Given the description of an element on the screen output the (x, y) to click on. 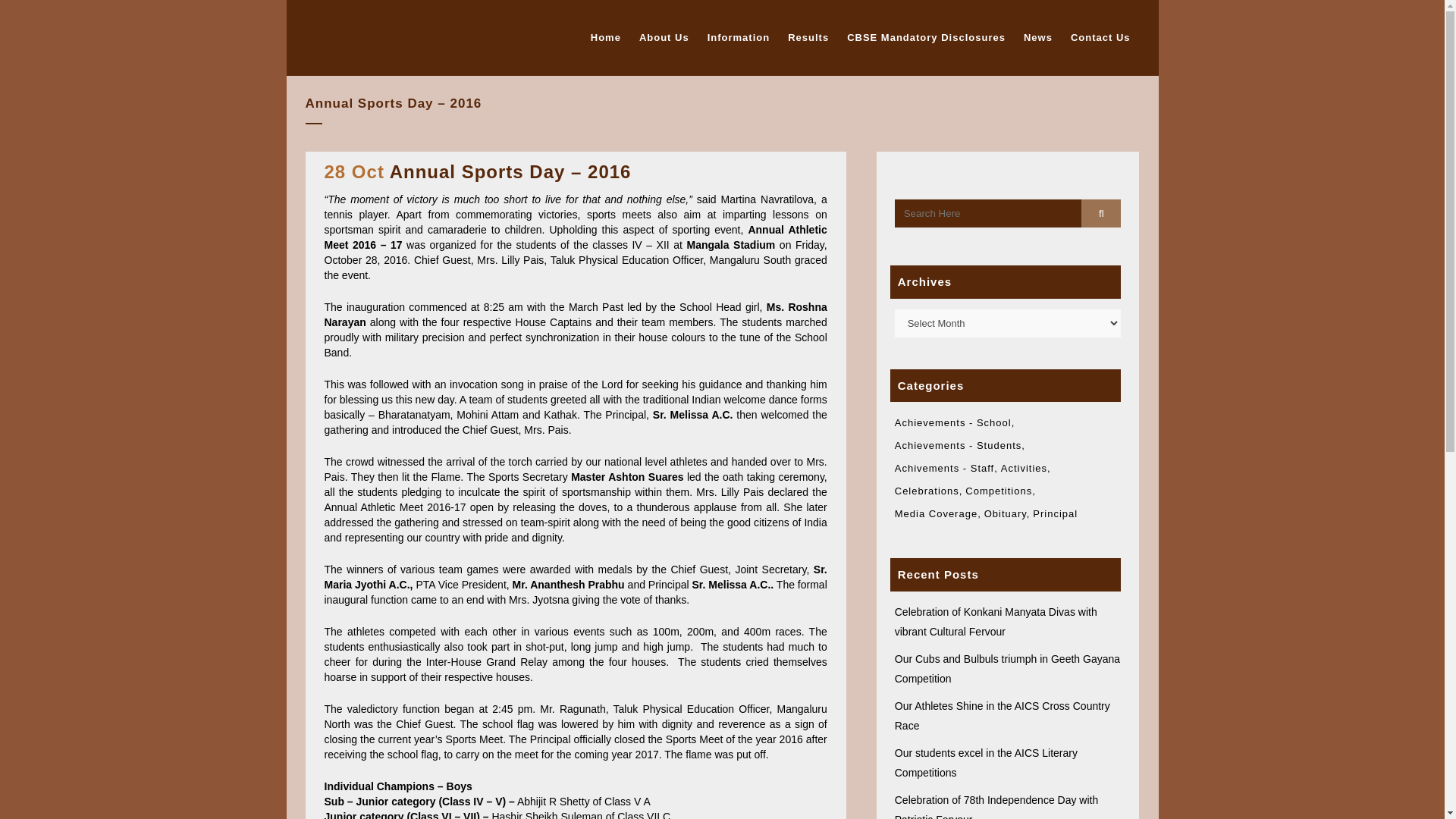
About Us (664, 38)
Information (738, 38)
CBSE Mandatory Disclosures (926, 38)
